Given the description of an element on the screen output the (x, y) to click on. 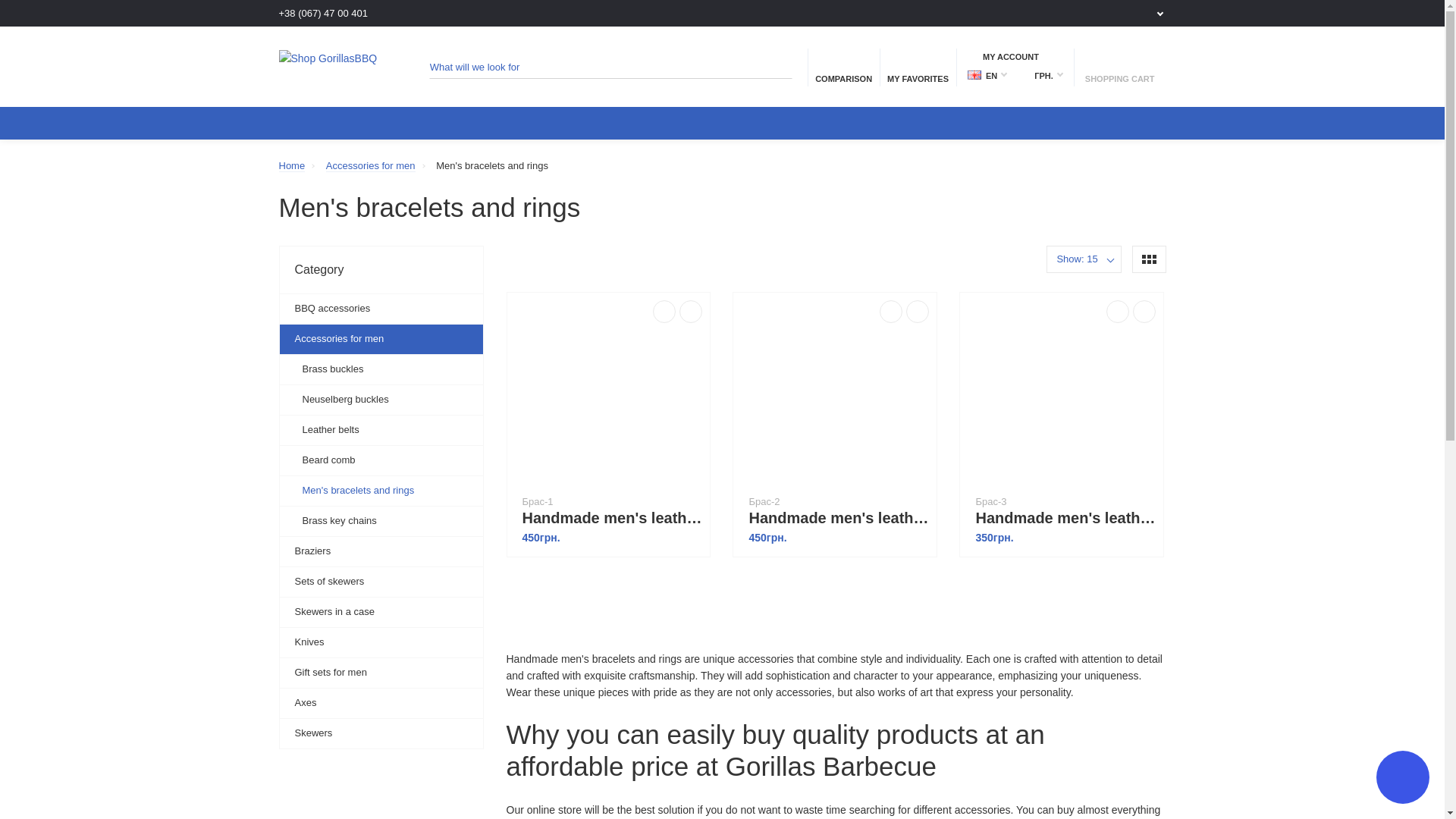
SHOPPING CART (1120, 67)
EN  (974, 74)
Shop GorillasBBQ (336, 66)
Add to Wish List (1144, 311)
MY FAVORITES (917, 67)
MY ACCOUNT (1015, 56)
Add to Wish List (690, 311)
Compare this Product (890, 311)
Compare this Product (1117, 311)
Compare this Product (663, 311)
